Given the description of an element on the screen output the (x, y) to click on. 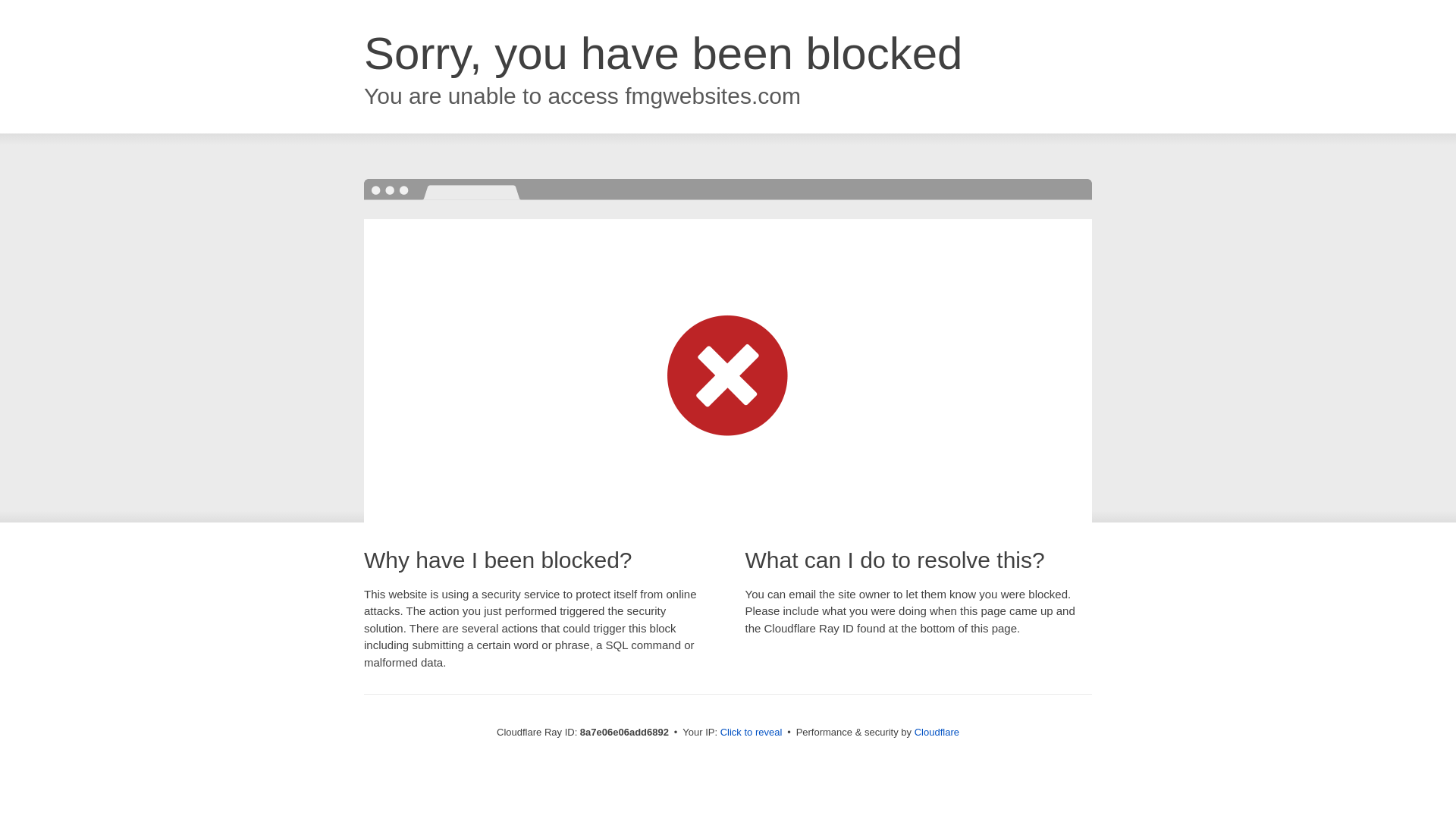
Cloudflare (936, 731)
Click to reveal (751, 732)
